Given the description of an element on the screen output the (x, y) to click on. 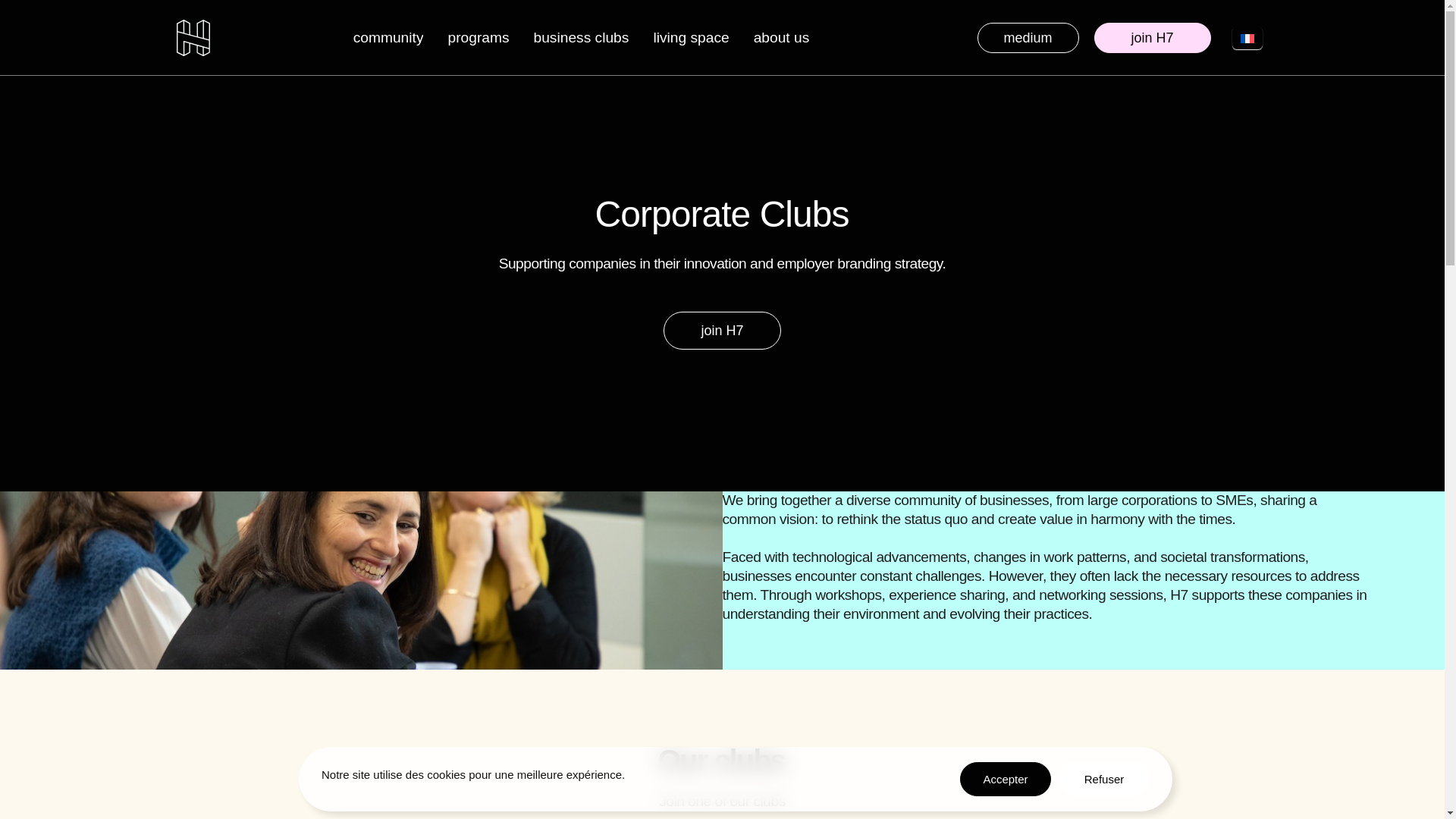
living space (690, 37)
Accepter (1005, 779)
join H7 (721, 330)
Refuser (1104, 779)
join H7 (1151, 37)
about us (781, 37)
